Given the description of an element on the screen output the (x, y) to click on. 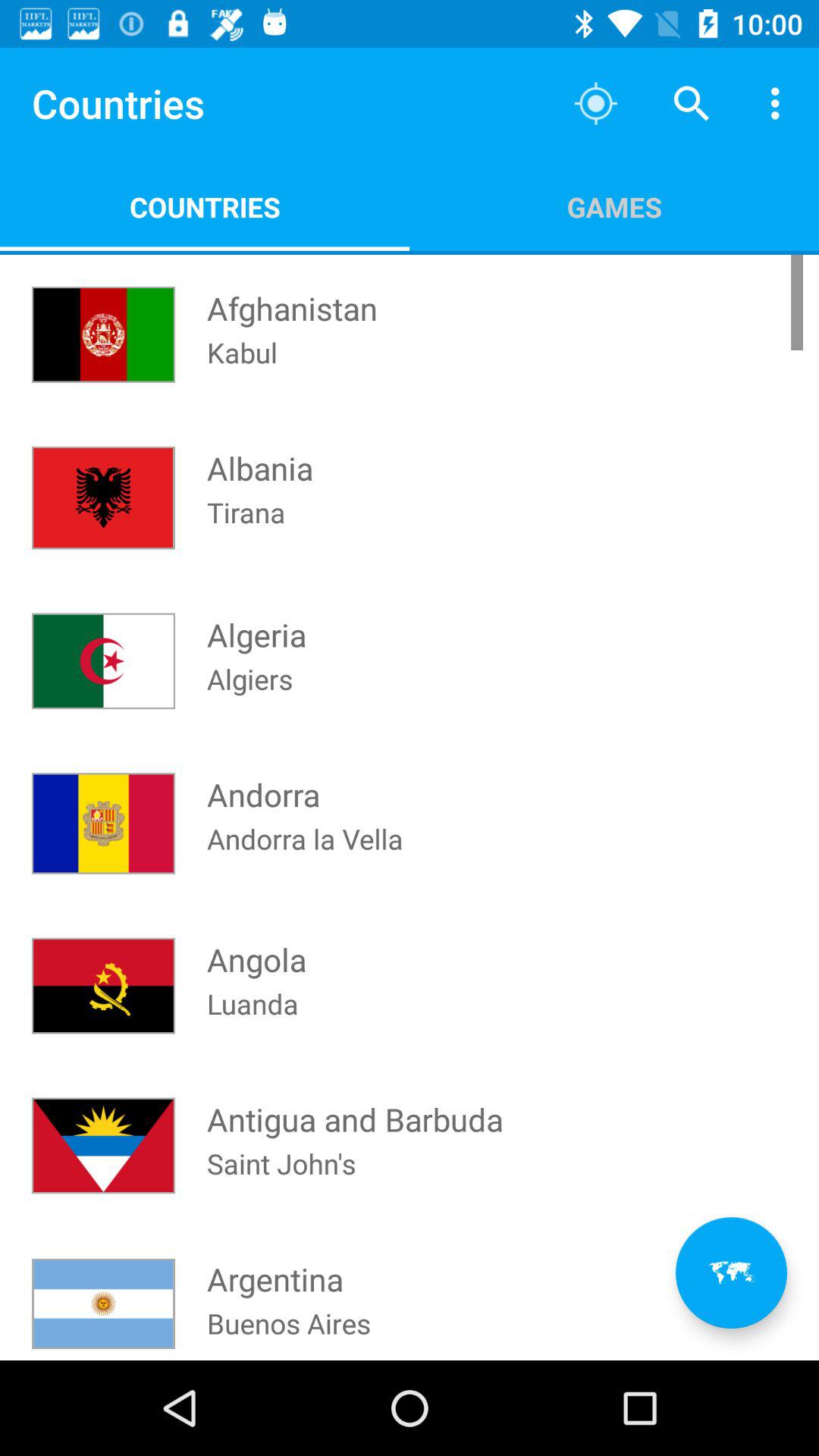
tap argentina (275, 1264)
